Given the description of an element on the screen output the (x, y) to click on. 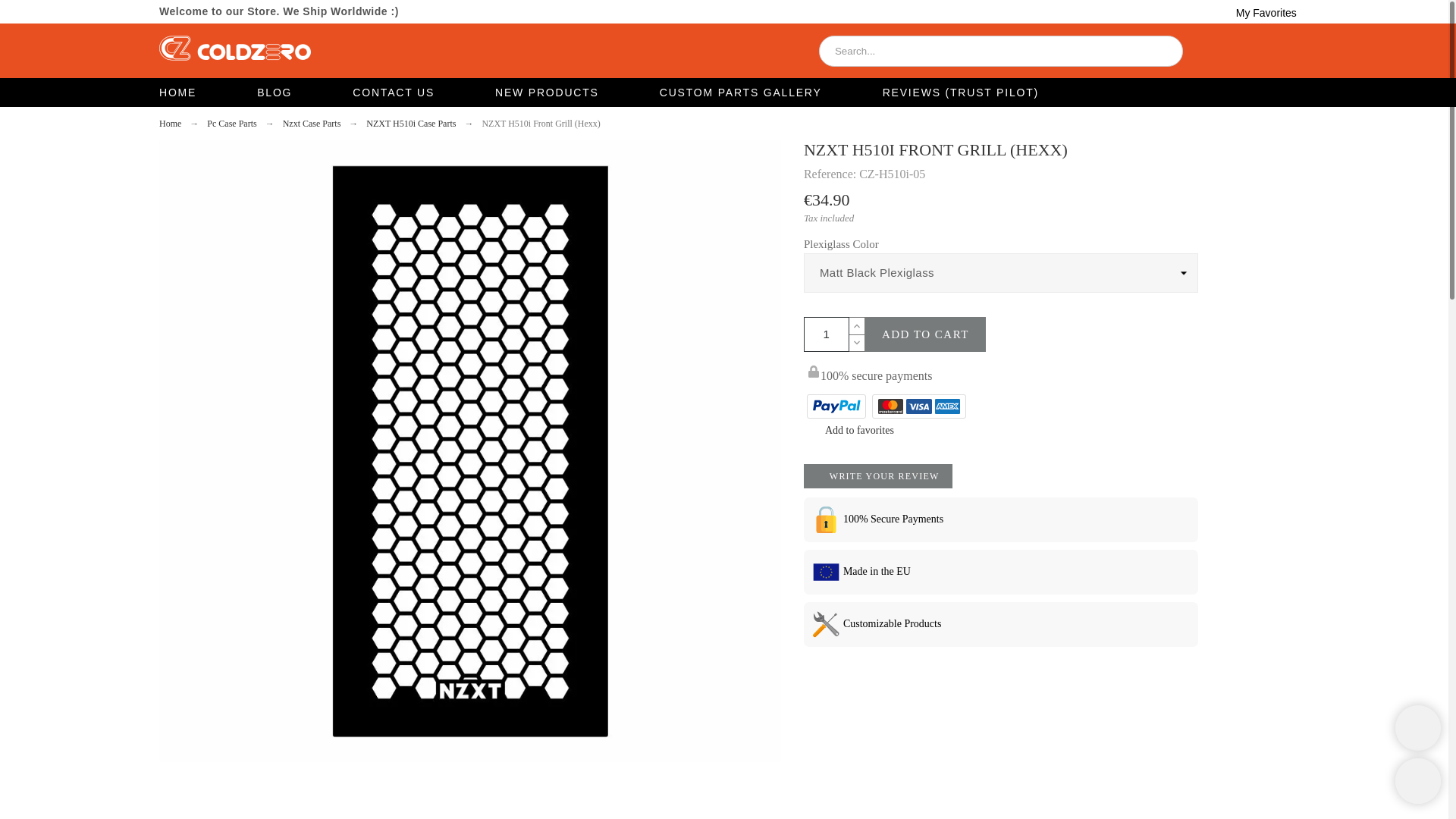
Home (169, 122)
Nzxt Case Parts (311, 122)
ColdZero (234, 50)
Add to favorites (848, 430)
Add to favorites (848, 430)
WRITE YOUR REVIEW (878, 476)
NEW PRODUCTS (546, 92)
CONTACT US (392, 92)
BLOG (274, 92)
NZXT H510i Case Parts (410, 122)
CUSTOM PARTS GALLERY (739, 92)
HOME (192, 92)
Pc Case Parts (231, 122)
1 (825, 334)
ADD TO CART (924, 334)
